Given the description of an element on the screen output the (x, y) to click on. 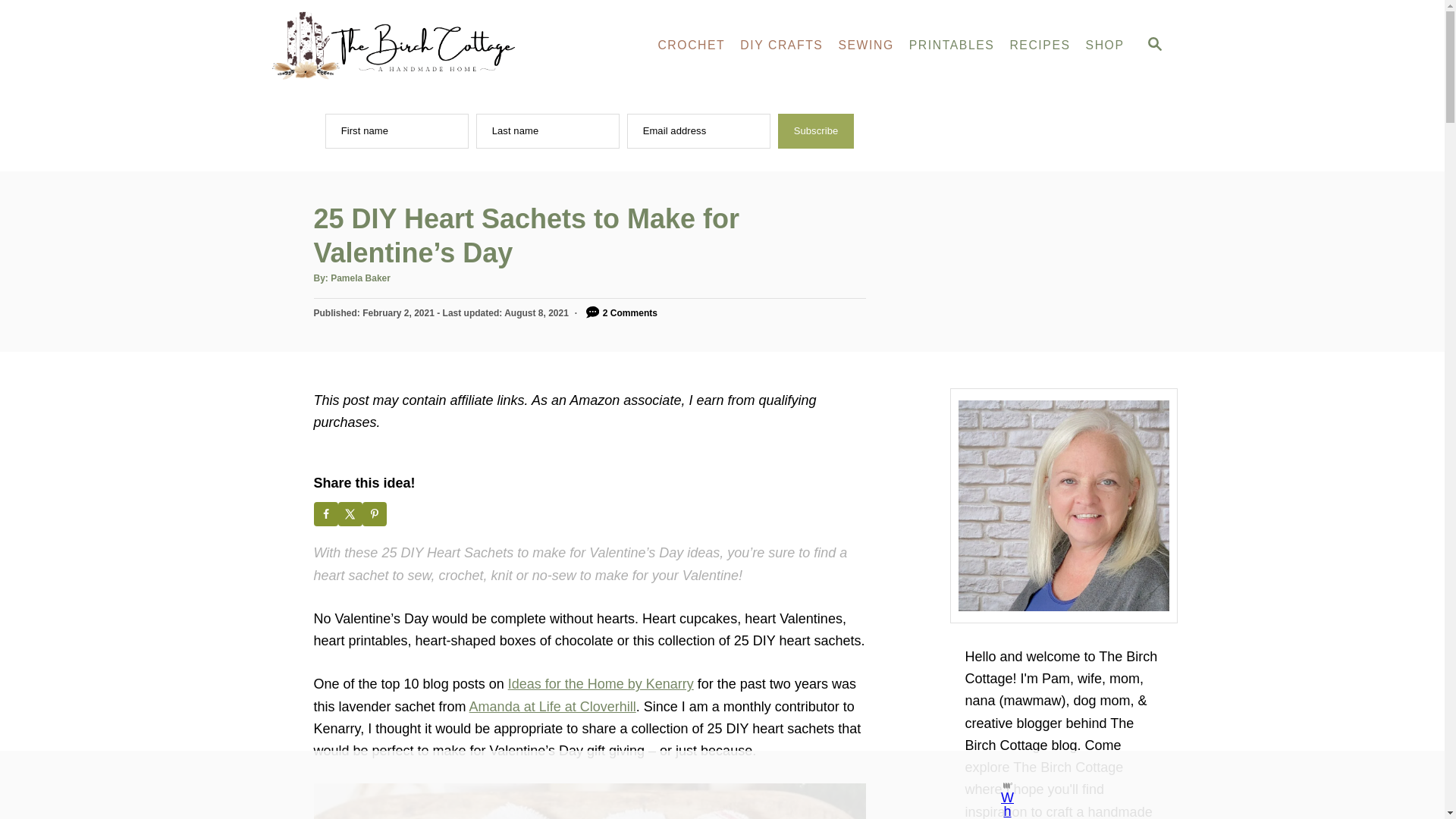
SHOP (1105, 45)
Share on X (349, 514)
CROCHET (690, 45)
The Birch Cottage (403, 45)
3rd party ad content (708, 785)
SEARCH (1153, 45)
RECIPES (1039, 45)
SEWING (865, 45)
Share on Facebook (325, 514)
DIY CRAFTS (780, 45)
PRINTABLES (952, 45)
Save to Pinterest (374, 514)
